Given the description of an element on the screen output the (x, y) to click on. 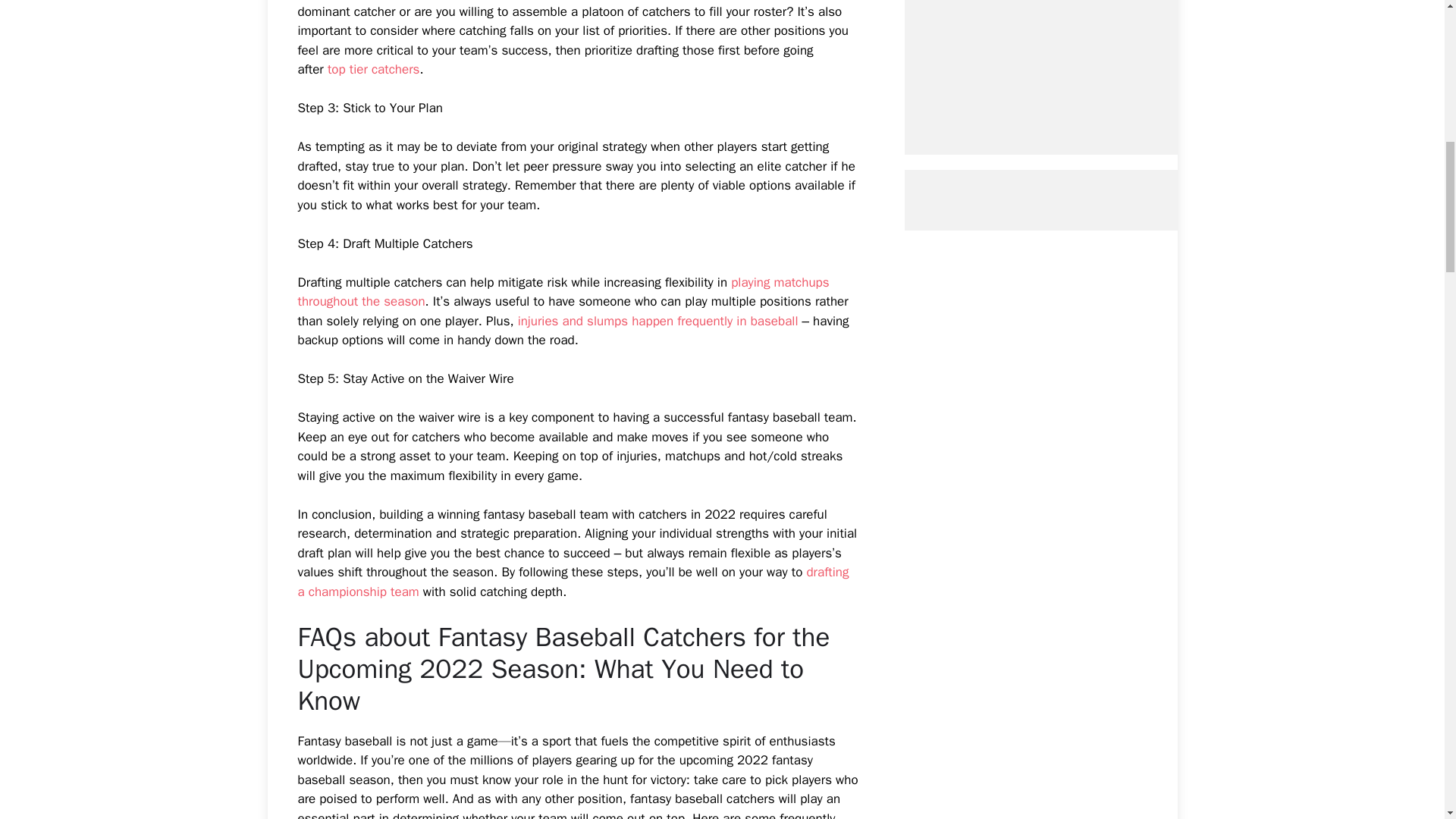
Scroll back to top (1406, 720)
drafting a championship team (572, 581)
injuries and slumps happen frequently in baseball (657, 320)
playing matchups throughout the season (562, 292)
top tier catchers (373, 68)
